Given the description of an element on the screen output the (x, y) to click on. 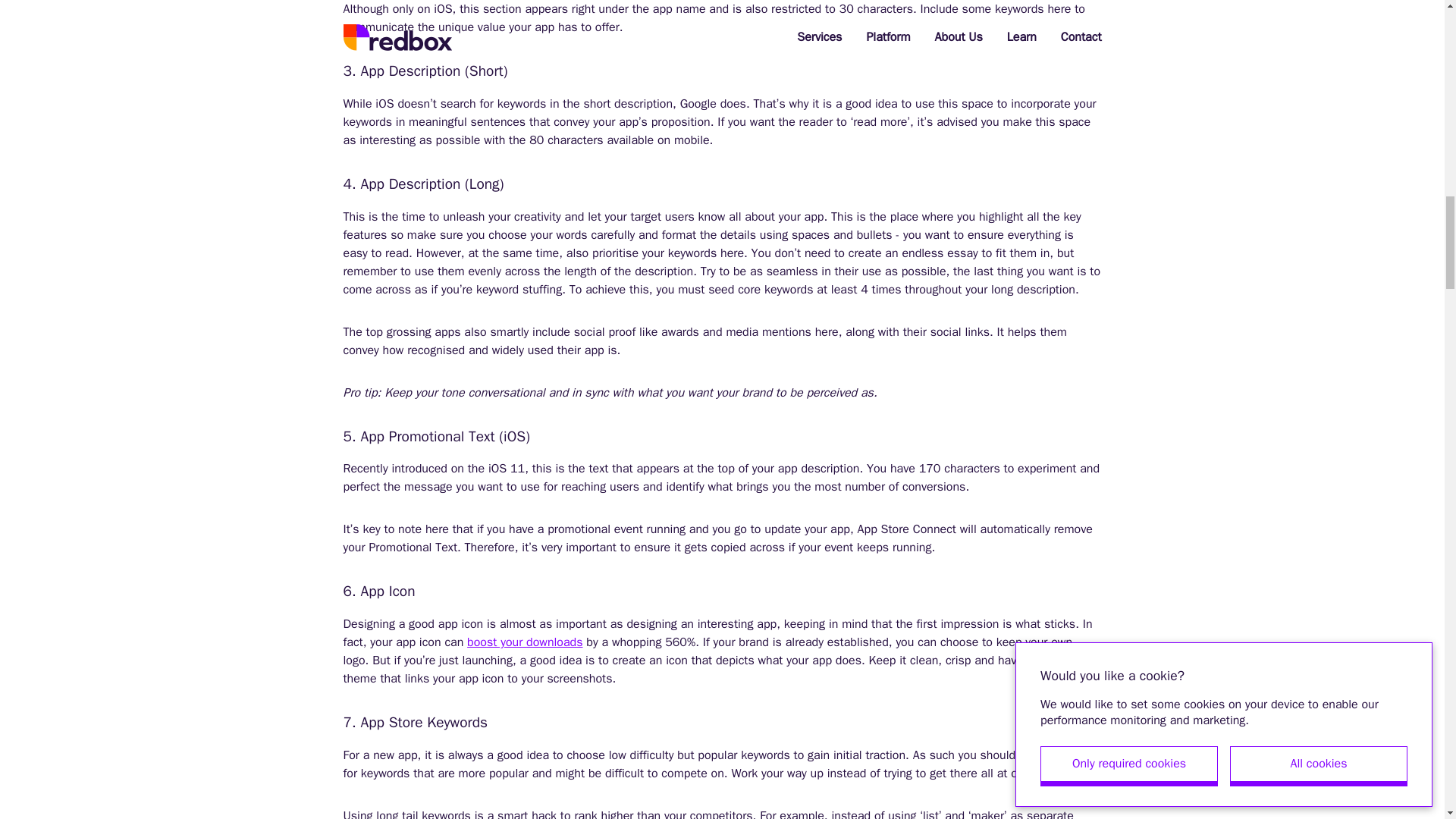
boost your downloads (524, 642)
